Given the description of an element on the screen output the (x, y) to click on. 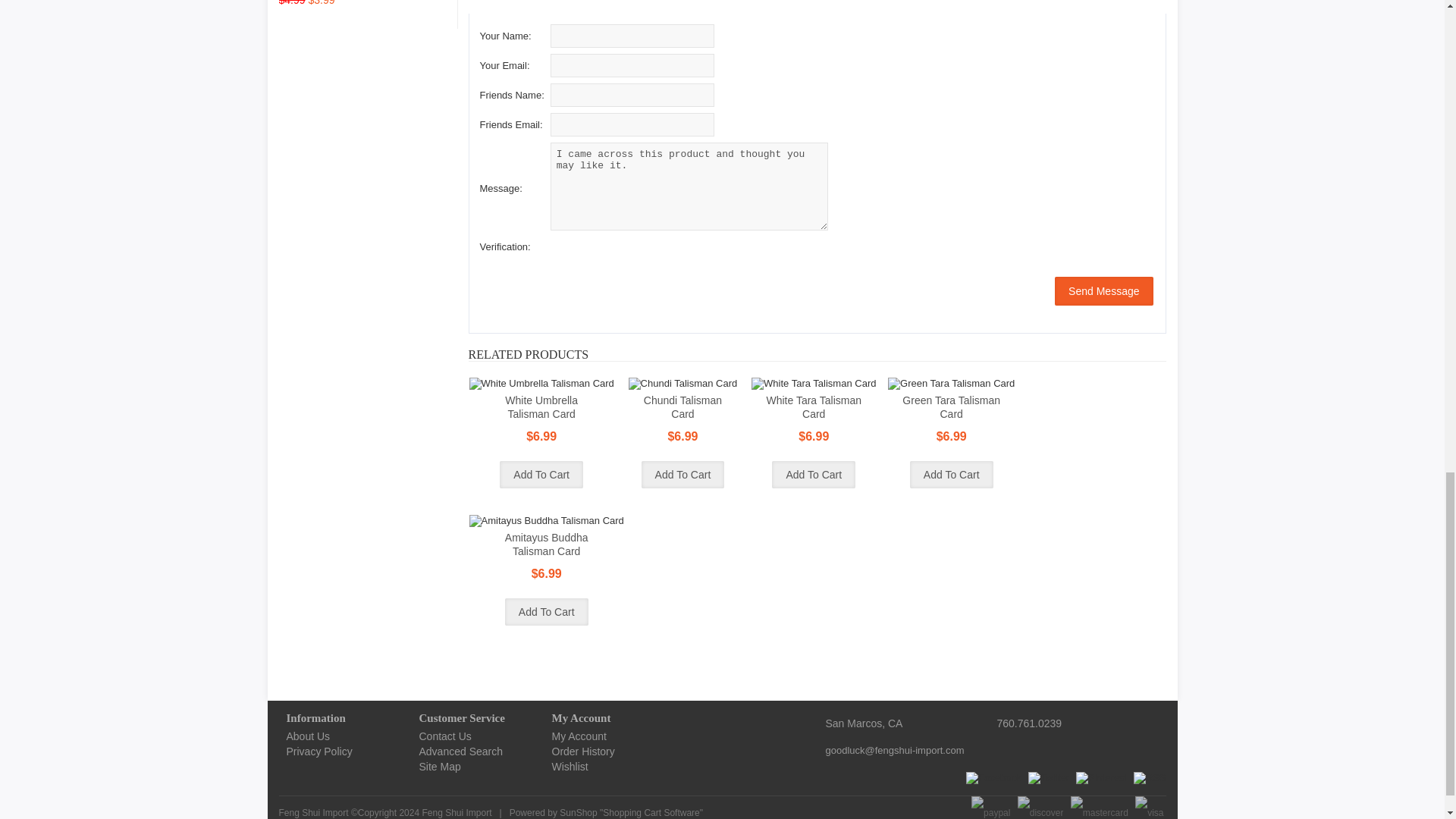
Add To Cart (546, 611)
RSS (1150, 777)
Ecommerce Shopping Cart Software (650, 812)
Facebook (994, 777)
Pinterest (1100, 777)
Add To Cart (541, 474)
Add To Cart (951, 474)
Add To Cart (683, 474)
Twitter (1047, 777)
Add To Cart (813, 474)
